Given the description of an element on the screen output the (x, y) to click on. 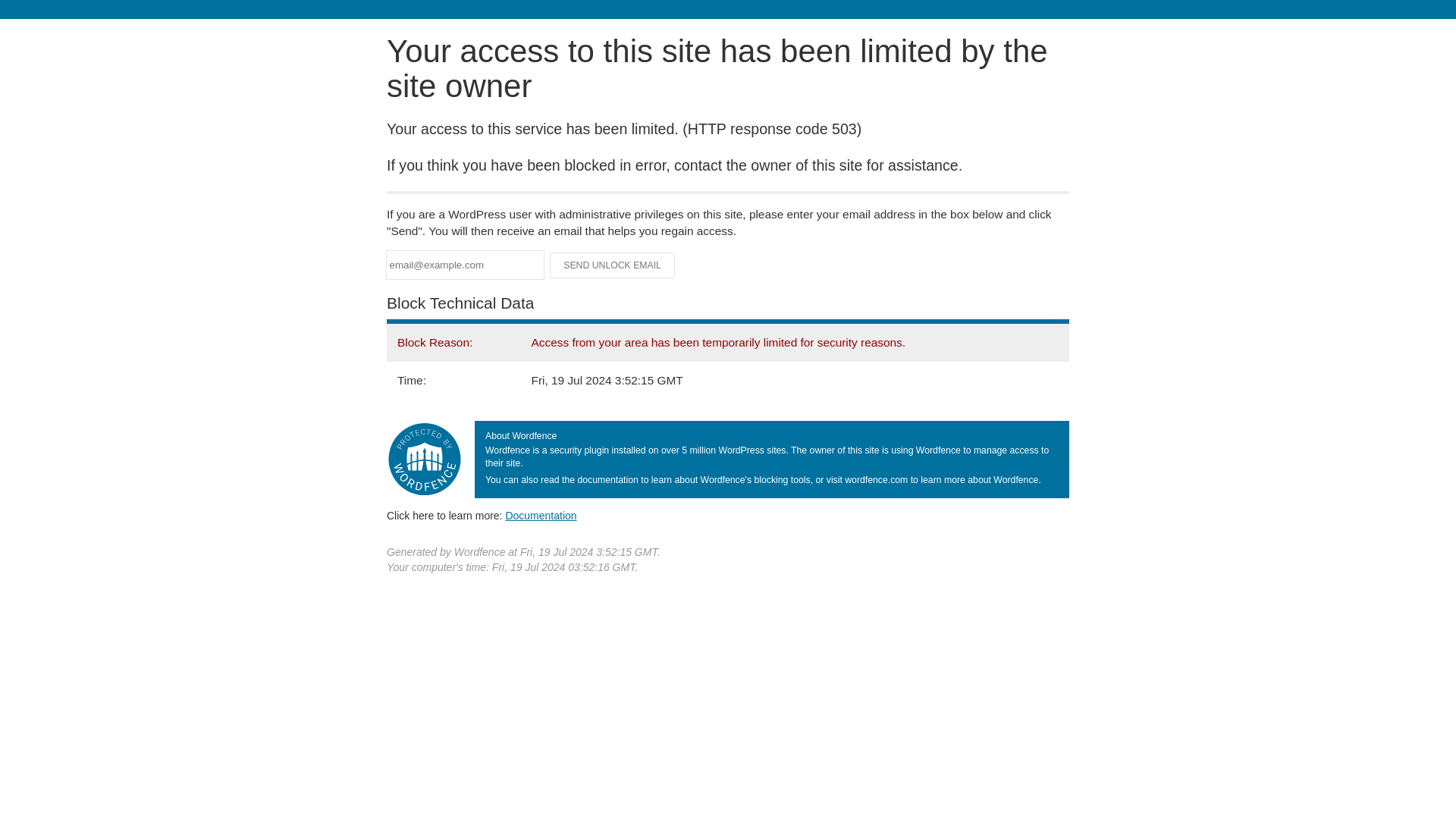
Send Unlock Email (612, 265)
Documentation (540, 515)
Send Unlock Email (612, 265)
